Given the description of an element on the screen output the (x, y) to click on. 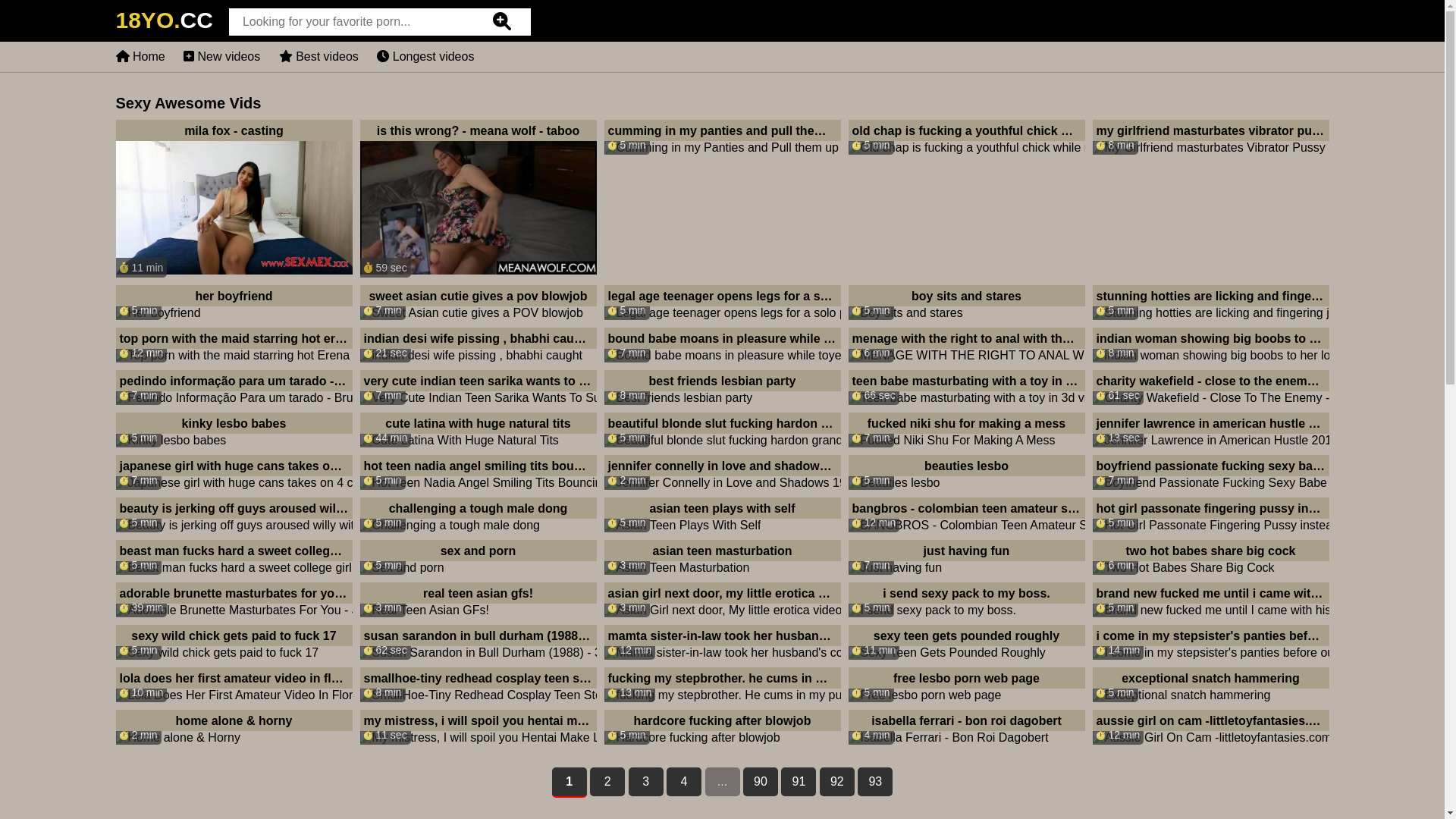
7 min
fucked niki shu for making a mess Element type: text (965, 429)
18YO.CC Element type: text (163, 24)
5 min
sexy wild chick gets paid to fuck 17 Element type: text (233, 641)
5 min
hardcore fucking after blowjob Element type: text (721, 726)
5 min
exceptional snatch hammering Element type: text (1210, 684)
8 min
indian woman showing big boobs to her lover Element type: text (1210, 344)
5 min
beauties lesbo Element type: text (965, 472)
7 min
japanese girl with huge cans takes on 4 cocks Element type: text (233, 472)
5 min
sex and porn Element type: text (477, 556)
4 min
isabella ferrari - bon roi dagobert Element type: text (965, 726)
1 Element type: text (569, 782)
5 min
i send sexy pack to my boss. Element type: text (965, 599)
5 min
beautiful blonde slut fucking hardon grandpa Element type: text (721, 429)
Home Element type: text (139, 56)
12 min
top porn with the maid starring hot erena kurosawa Element type: text (233, 344)
5 min
asian teen plays with self Element type: text (721, 514)
Best videos Element type: text (318, 56)
8 min
best friends lesbian party Element type: text (721, 387)
5 Element type: text (722, 781)
90 Element type: text (760, 781)
93 Element type: text (874, 781)
5 min
legal age teenager opens legs for a solo play Element type: text (721, 302)
3 min
asian teen masturbation Element type: text (721, 556)
2 Element type: text (606, 781)
8 min
my girlfriend masturbates vibrator pussy Element type: text (1210, 136)
5 min
hot teen nadia angel smiling tits bouncing Element type: text (477, 472)
2 min
home alone & horny Element type: text (233, 726)
3 min
real teen asian gfs! Element type: text (477, 599)
5 min
kinky lesbo babes Element type: text (233, 429)
New videos Element type: text (221, 56)
13 sec
jennifer lawrence in american hustle 2013 Element type: text (1210, 429)
5 min
her boyfriend Element type: text (233, 302)
5 min
free lesbo porn web page Element type: text (965, 684)
Longest videos Element type: text (424, 56)
7 min
just having fun Element type: text (965, 556)
5 min
challenging a tough male dong Element type: text (477, 514)
11 min
mila fox - casting Element type: text (233, 198)
12 min
aussie girl on cam -littletoyfantasies.com Element type: text (1210, 726)
13 min
fucking my stepbrother. he cums in my pussy Element type: text (721, 684)
11 min
sexy teen gets pounded roughly Element type: text (965, 641)
5 min
boy sits and stares Element type: text (965, 302)
62 sec
susan sarandon in bull durham (1988) - 3 Element type: text (477, 641)
6 min
menage with the right to anal with the black couple Element type: text (965, 344)
61 sec
charity wakefield - close to the enemy - s01e02 Element type: text (1210, 387)
59 sec
is this wrong? - meana wolf - taboo Element type: text (477, 198)
5 min
hot girl passonate fingering pussy instead of cooking Element type: text (1210, 514)
92 Element type: text (836, 781)
3 Element type: text (645, 781)
21 sec
indian desi wife pissing , bhabhi caught Element type: text (477, 344)
7 min
sweet asian cutie gives a pov blowjob Element type: text (477, 302)
6 min
two hot babes share big cock Element type: text (1210, 556)
66 sec
teen babe masturbating with a toy in 3d video Element type: text (965, 387)
10 min
lola does her first amateur video in florida hotel Element type: text (233, 684)
44 min
cute latina with huge natural tits Element type: text (477, 429)
4 Element type: text (683, 781)
2 min
jennifer connelly in love and shadows 1994 Element type: text (721, 472)
91 Element type: text (798, 781)
7 min
bound babe moans in pleasure while toyed Element type: text (721, 344)
5 min
cumming in my panties and pull them up Element type: text (721, 136)
